Given the description of an element on the screen output the (x, y) to click on. 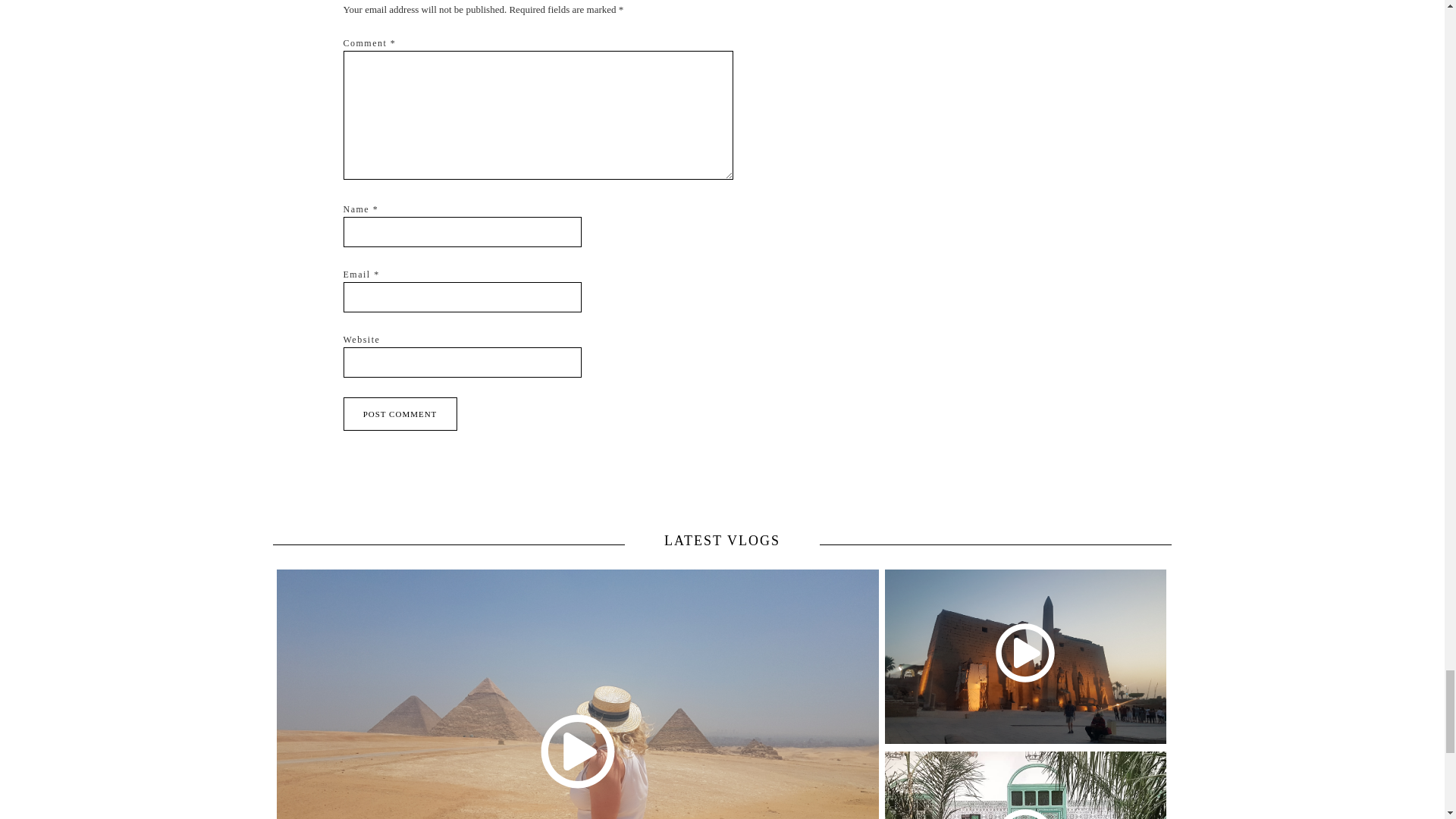
LATEST VLOGS (721, 539)
Post Comment (399, 413)
Post Comment (399, 413)
